Given the description of an element on the screen output the (x, y) to click on. 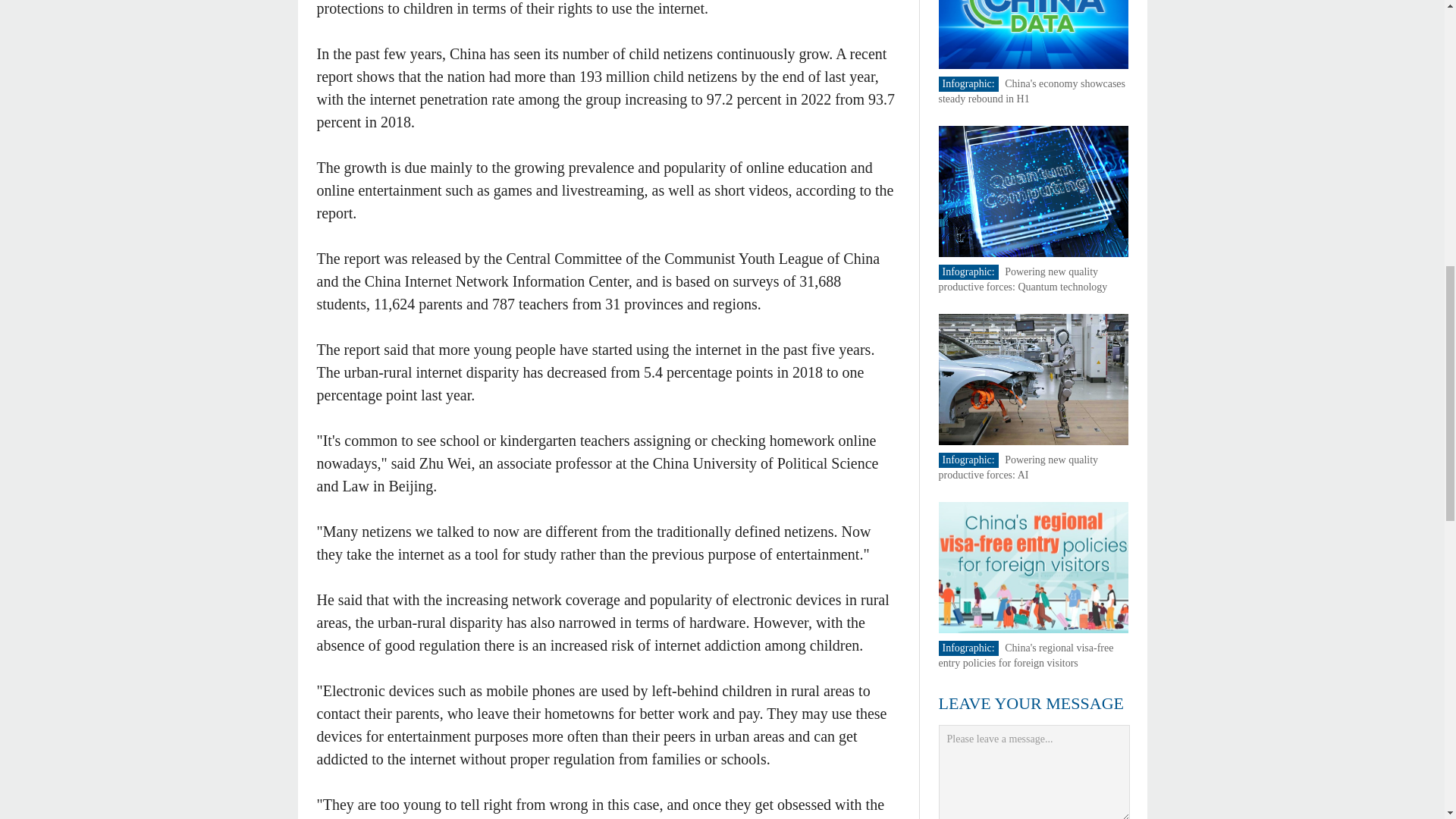
Powering new quality productive forces: AI (1019, 467)
China's economy showcases steady rebound in H1 (1032, 90)
Powering new quality productive forces: Quantum technology (1023, 279)
LEAVE YOUR MESSAGE (1031, 702)
